Given the description of an element on the screen output the (x, y) to click on. 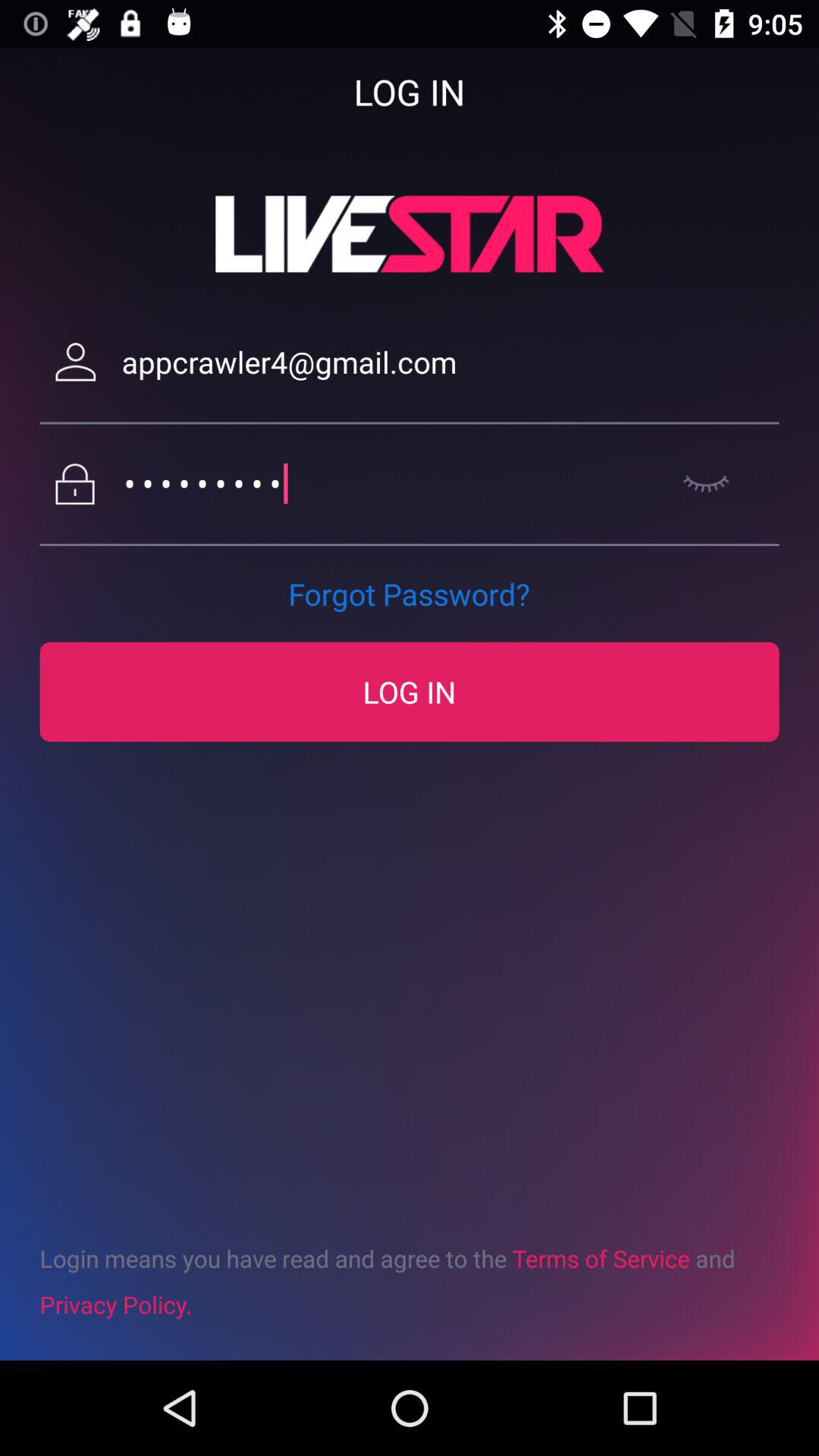
press the forgot password? (409, 593)
